Given the description of an element on the screen output the (x, y) to click on. 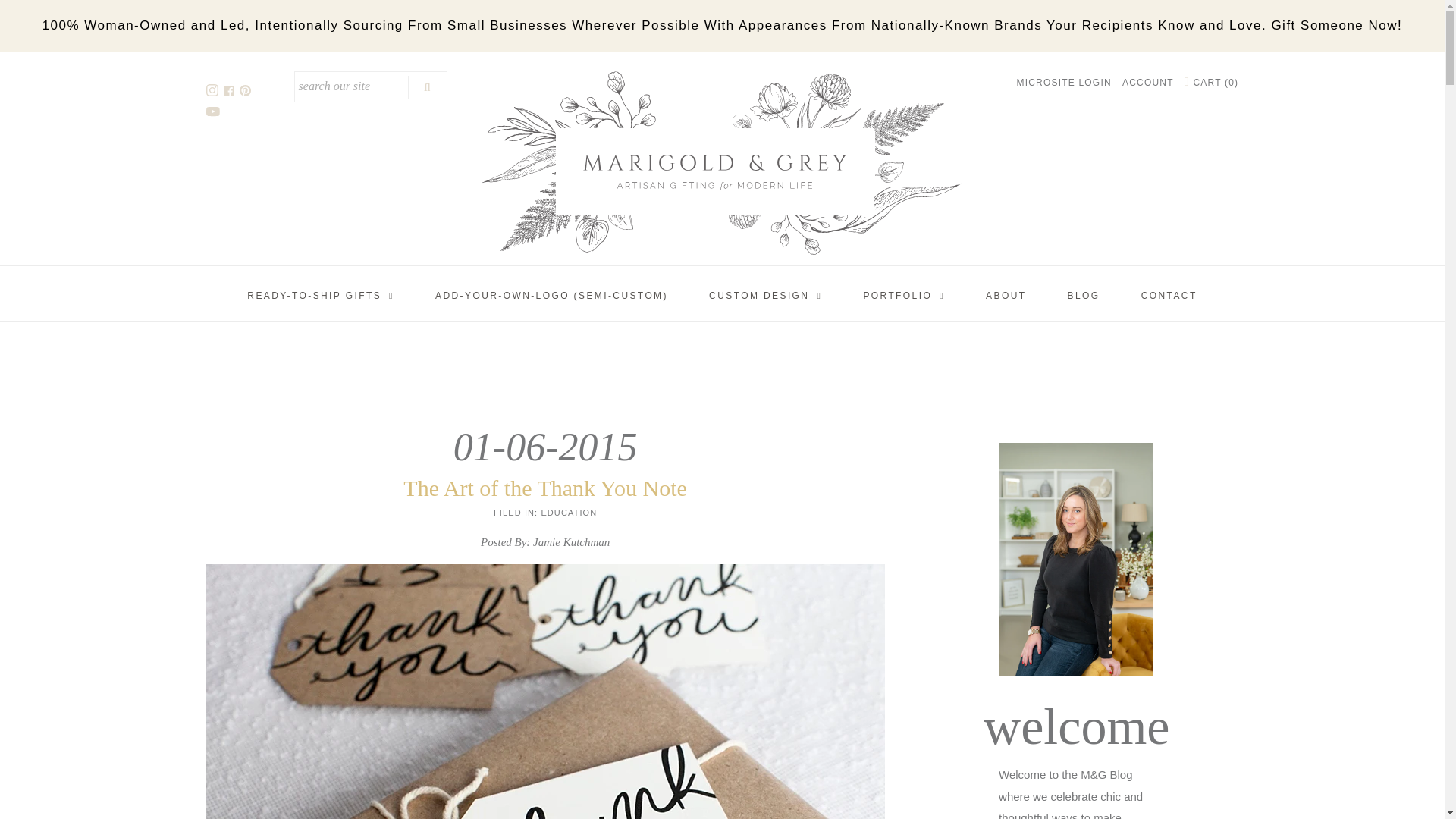
CUSTOM DESIGN (765, 295)
READY-TO-SHIP GIFTS (320, 295)
ACCOUNT (1147, 81)
MICROSITE LOGIN (1063, 81)
